Given the description of an element on the screen output the (x, y) to click on. 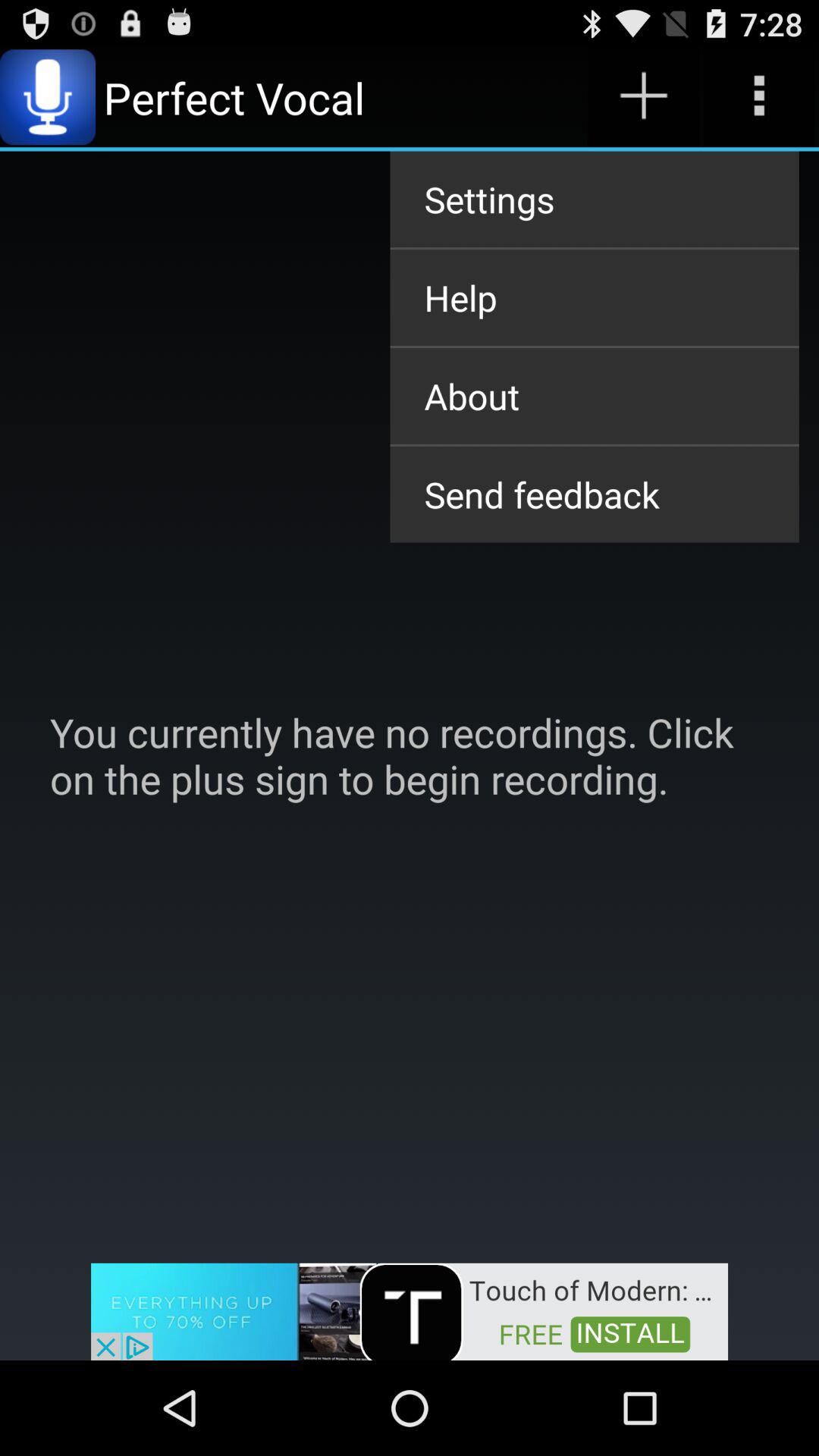
advertisement (409, 1310)
